Given the description of an element on the screen output the (x, y) to click on. 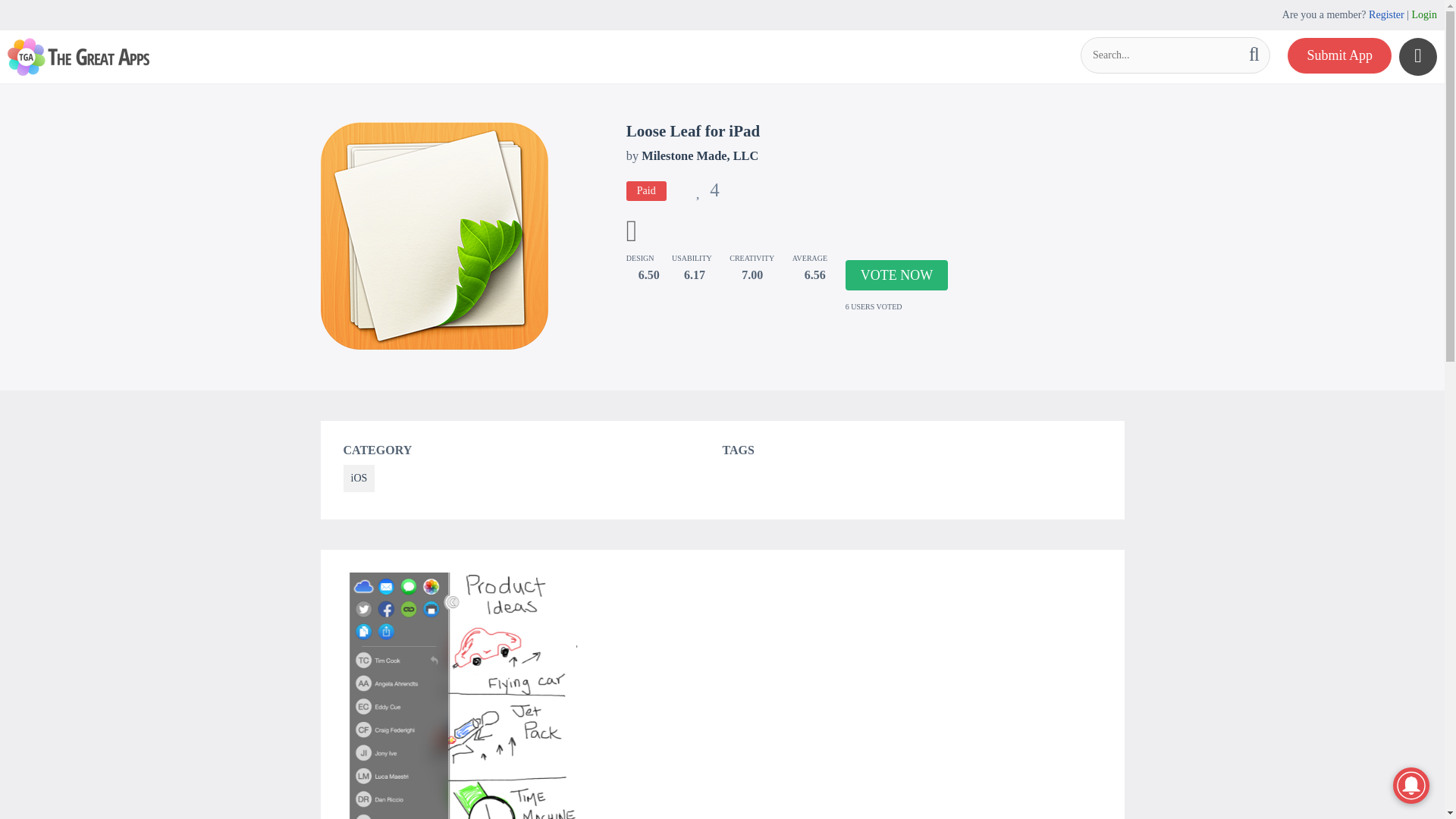
Register (1386, 14)
Submit App (1339, 55)
The Great Apps (78, 56)
Login (1424, 14)
